Given the description of an element on the screen output the (x, y) to click on. 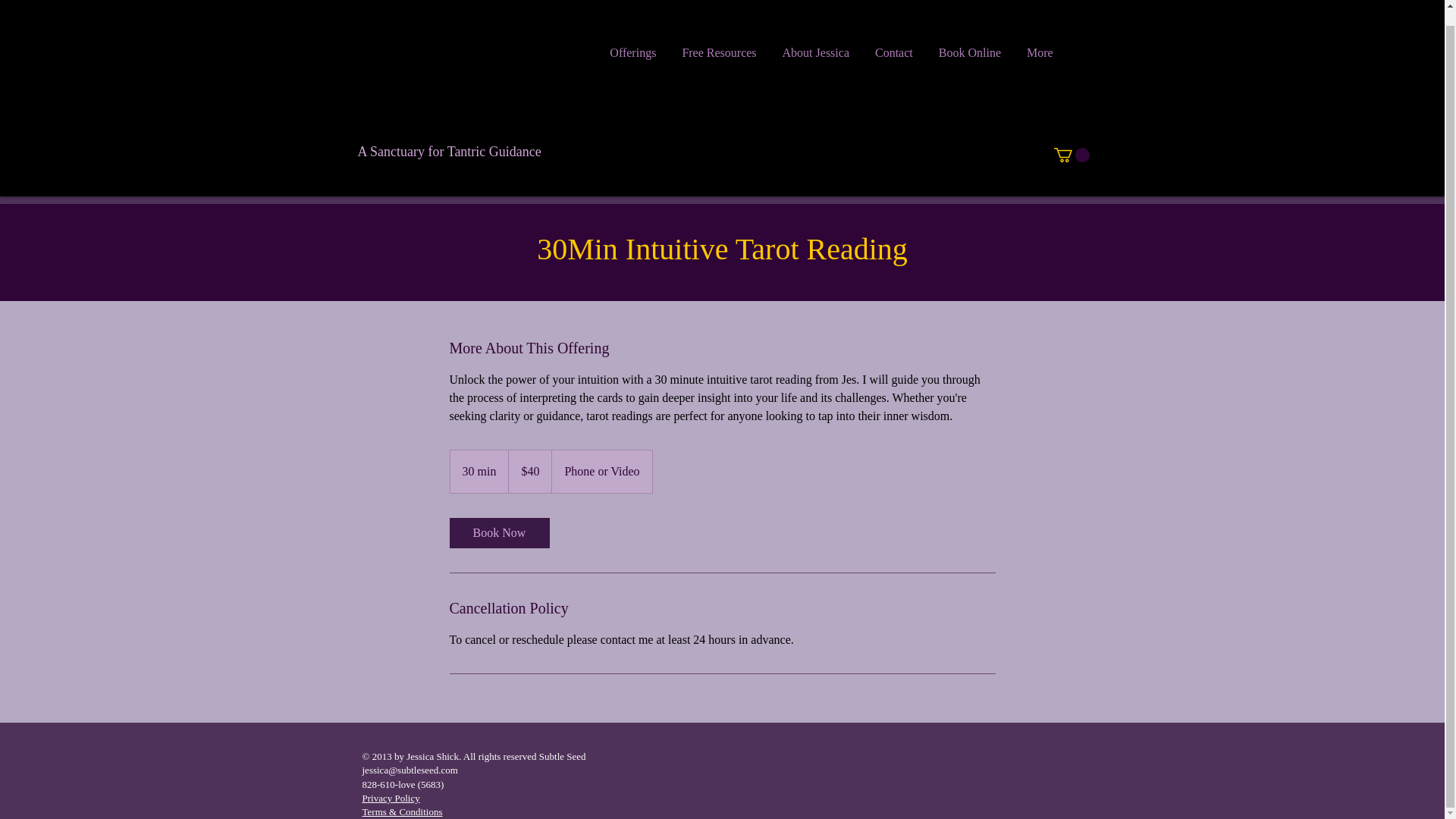
A Sanctuary for Tantric Guidance (449, 150)
Book Online (969, 56)
Privacy Policy (391, 797)
Book Now (498, 532)
Contact (893, 56)
About Jessica (815, 56)
Offerings (632, 56)
Free Resources (718, 56)
